Given the description of an element on the screen output the (x, y) to click on. 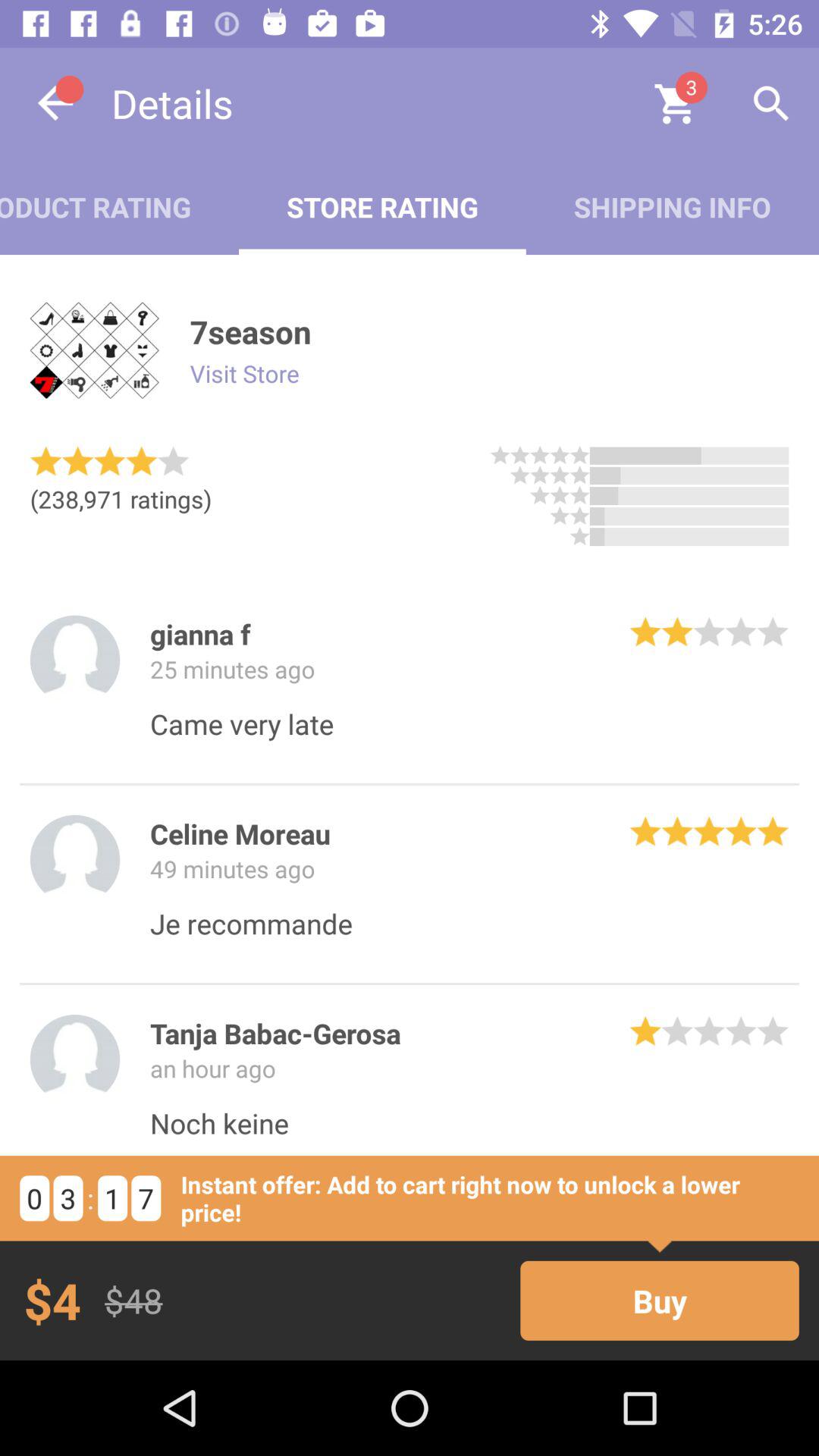
swipe to the store rating (382, 206)
